Given the description of an element on the screen output the (x, y) to click on. 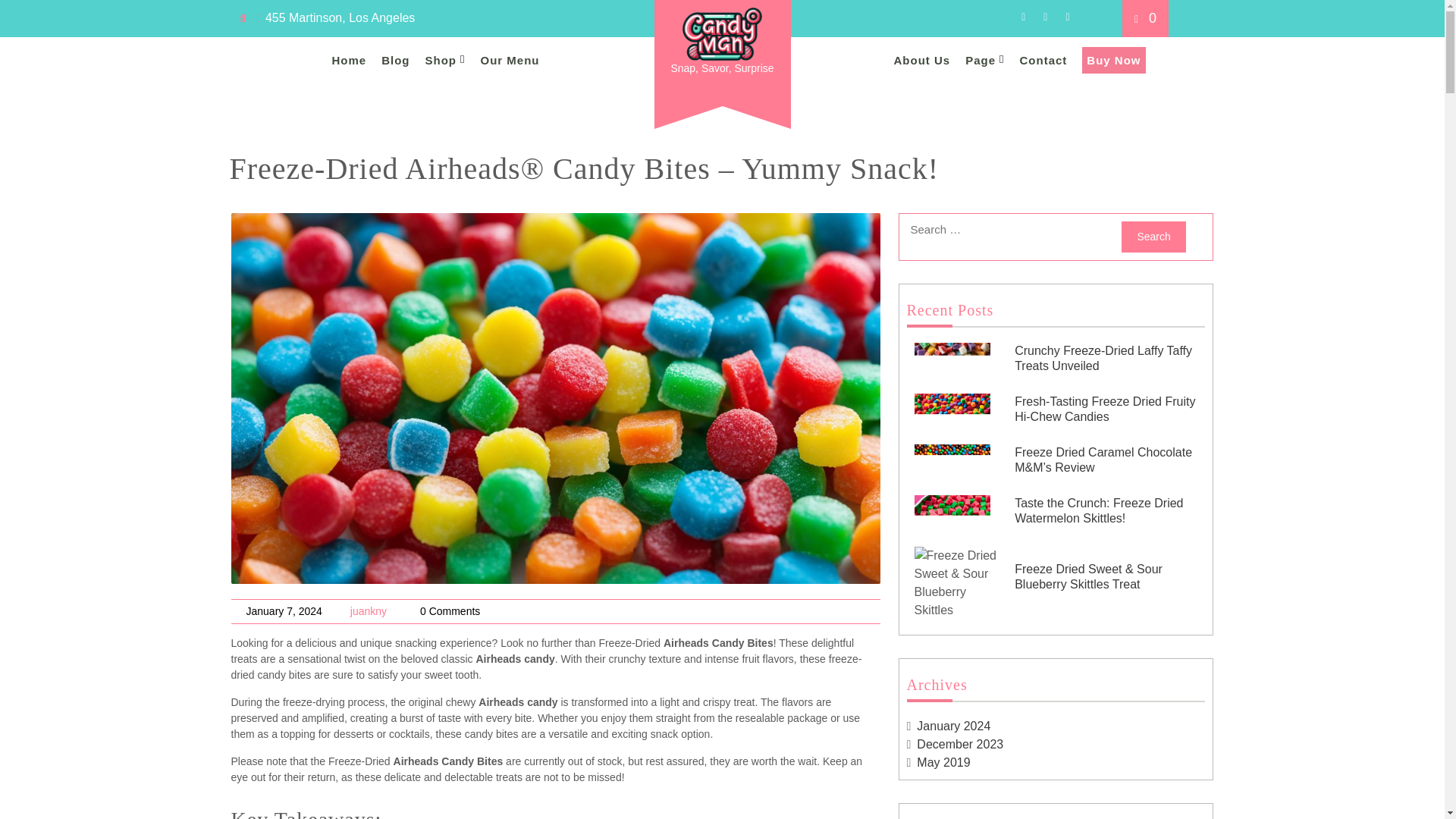
455 Martinson, Los Angeles (335, 17)
Contact (1043, 59)
Our Menu (510, 59)
Search (1153, 236)
Home (348, 59)
Shop (445, 59)
Search (1153, 236)
Buy Now (1112, 59)
Page (984, 59)
About Us (921, 59)
